Given the description of an element on the screen output the (x, y) to click on. 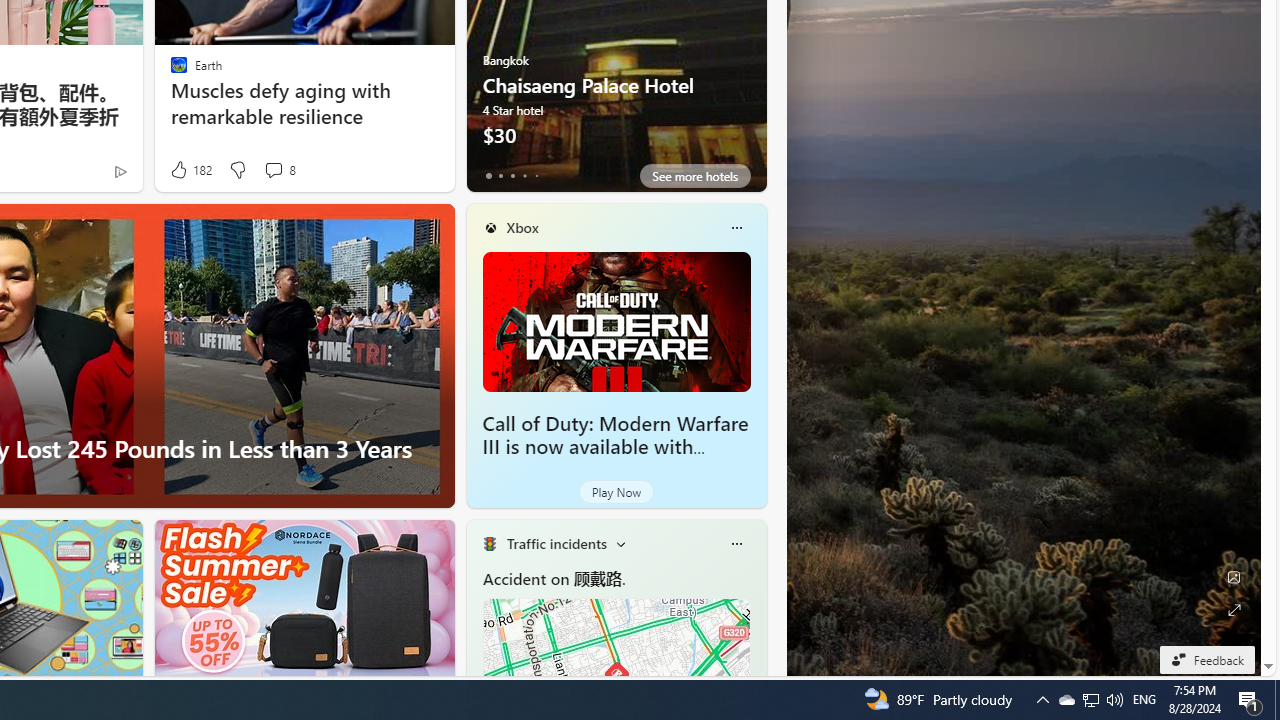
tab-4 (535, 175)
See more hotels (694, 175)
Expand background (1233, 610)
tab-2 (511, 175)
Traffic Title Traffic Light (489, 543)
Play Now (616, 491)
